Given the description of an element on the screen output the (x, y) to click on. 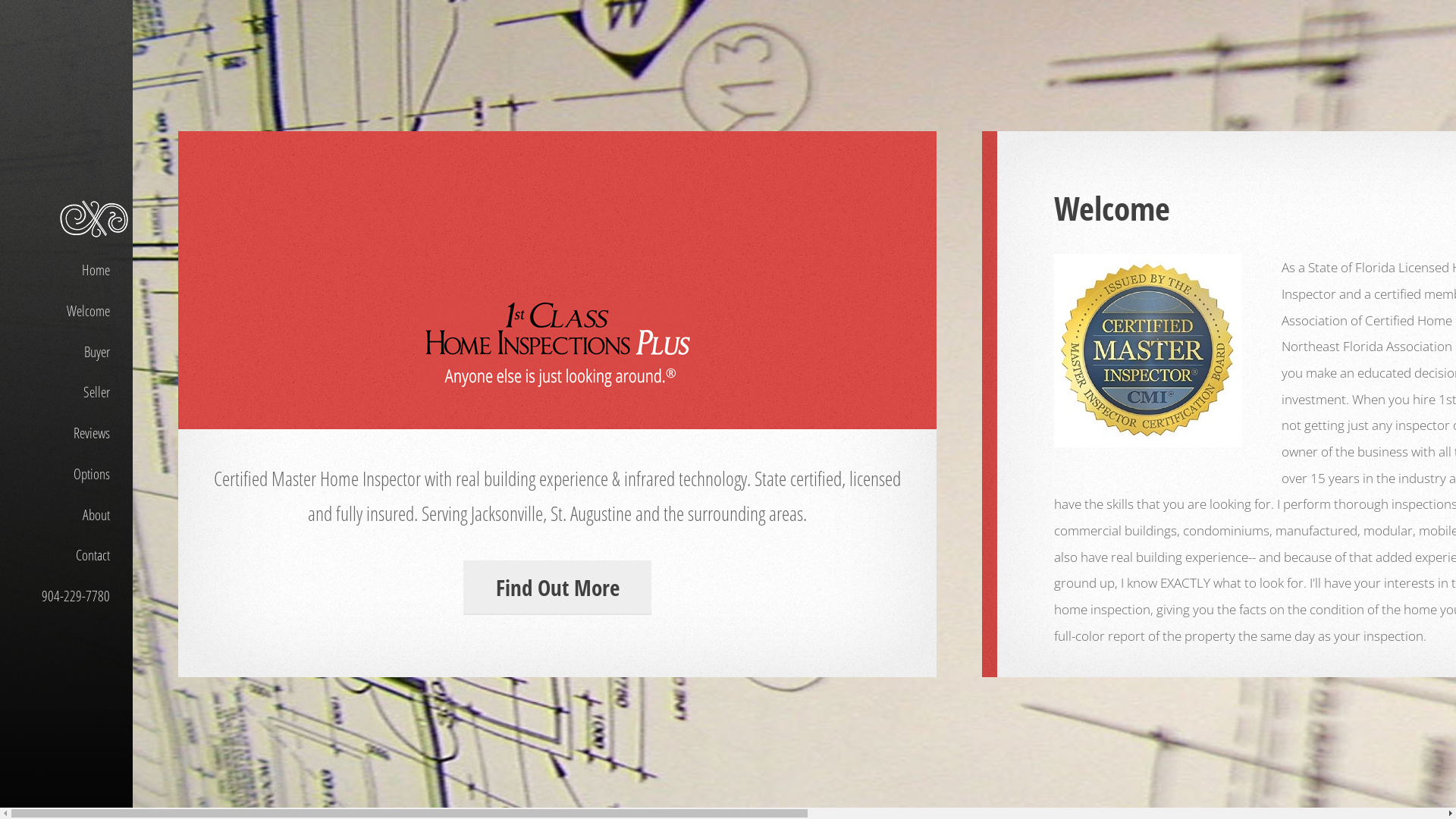
Buyer Element type: text (66, 351)
Welcome Element type: text (66, 310)
904-229-7780 Element type: text (66, 591)
About Element type: text (66, 514)
Home Element type: text (66, 270)
Find Out More Element type: text (557, 587)
Options Element type: text (66, 473)
Seller Element type: text (66, 392)
Contact Element type: text (66, 555)
Reviews Element type: text (66, 433)
